Given the description of an element on the screen output the (x, y) to click on. 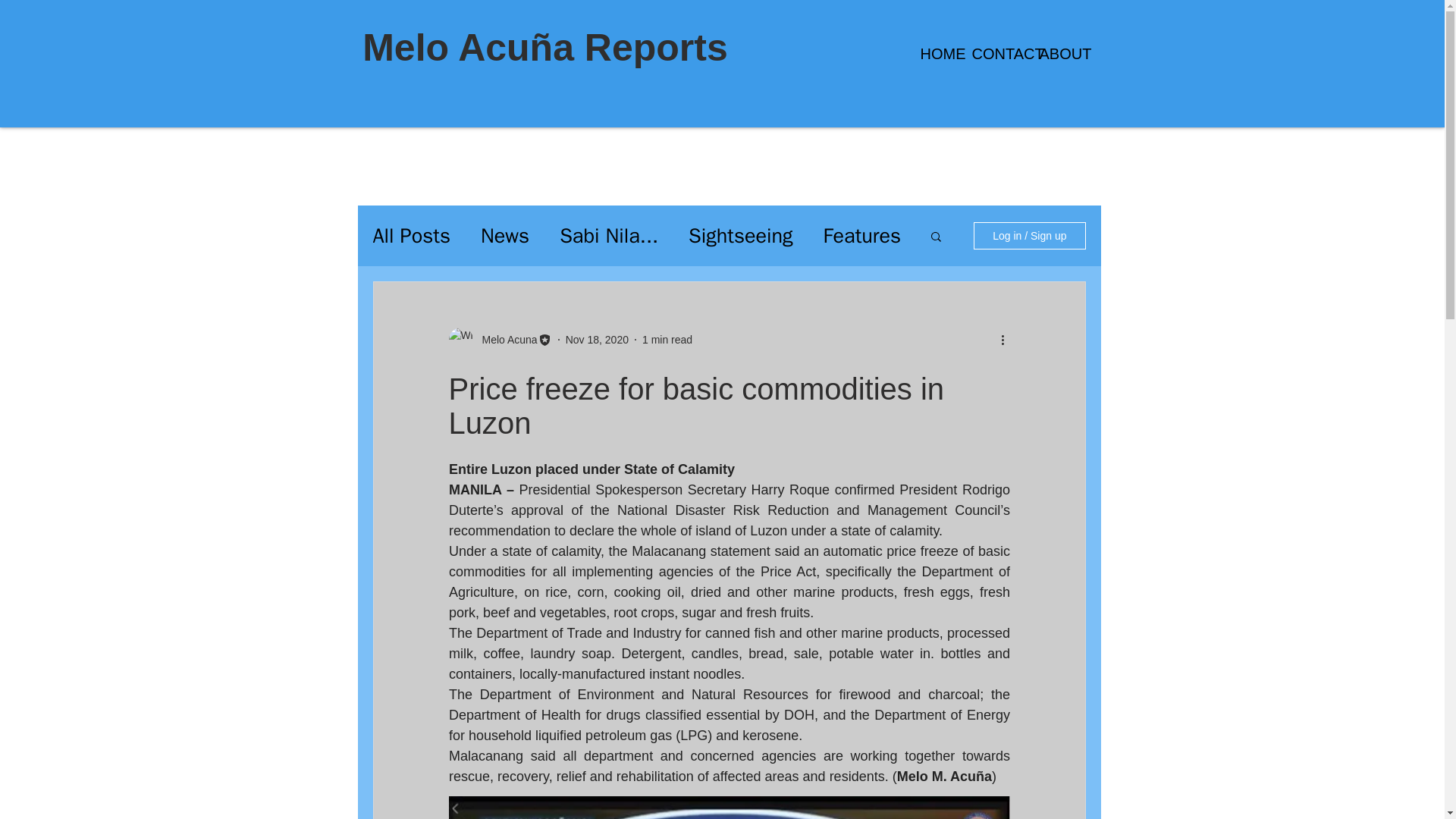
Nov 18, 2020 (597, 339)
All Posts (410, 235)
Features (862, 235)
HOME (933, 53)
Sightseeing (740, 235)
News (504, 235)
Sabi Nila... (608, 235)
ABOUT (1055, 53)
Melo Acuna (505, 340)
1 min read (667, 339)
CONTACT (993, 53)
